Given the description of an element on the screen output the (x, y) to click on. 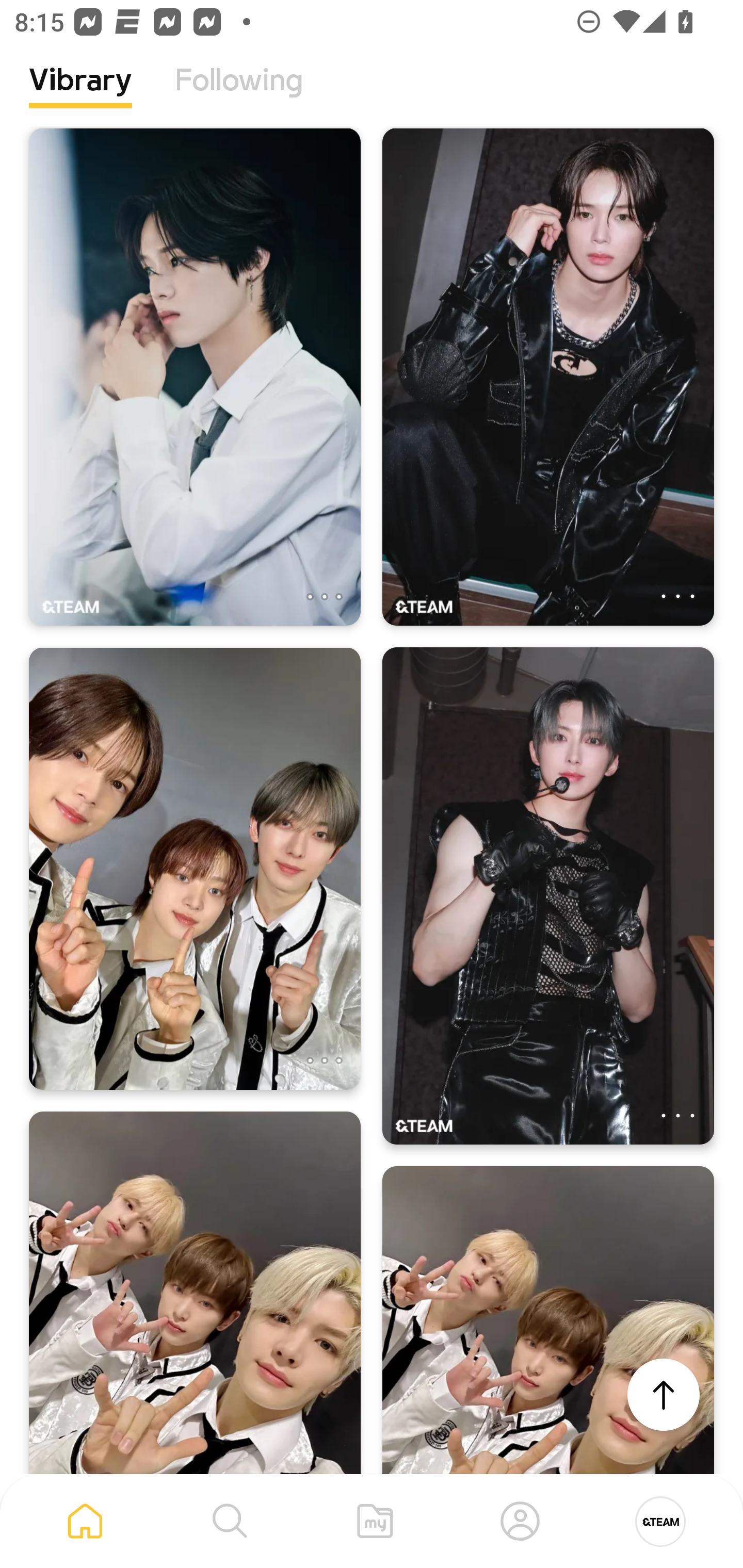
Vibrary (80, 95)
Following (239, 95)
